Given the description of an element on the screen output the (x, y) to click on. 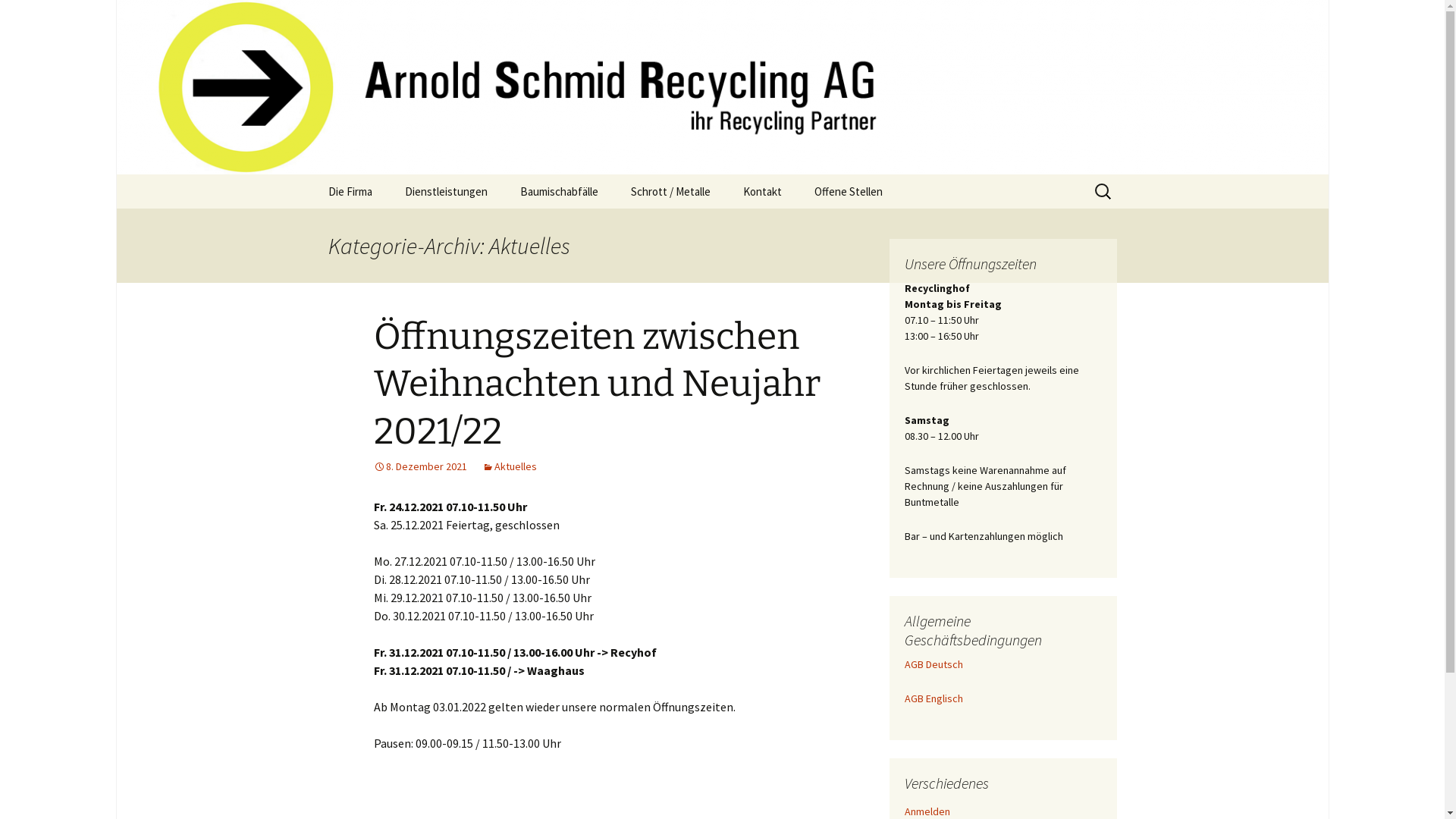
Aktuelles Element type: text (509, 466)
Dienstleistungen Element type: text (445, 191)
AGB Deutsch Element type: text (932, 664)
Arnold Schmid Recycling AG Element type: text (721, 87)
Die Firma Element type: text (349, 191)
Metalle Element type: text (691, 225)
Schrott / Metalle Element type: text (670, 191)
AGB Englisch Element type: text (932, 698)
Suche Element type: text (18, 16)
Anmelden Element type: text (926, 811)
Baumischabfall Sortierung Element type: text (580, 231)
Zum Inhalt springen Element type: text (312, 174)
Wie alles begann Element type: text (388, 225)
Kontakt Element type: text (762, 191)
8. Dezember 2021 Element type: text (419, 466)
Offene Stellen Element type: text (848, 191)
Transporte Element type: text (465, 225)
